Given the description of an element on the screen output the (x, y) to click on. 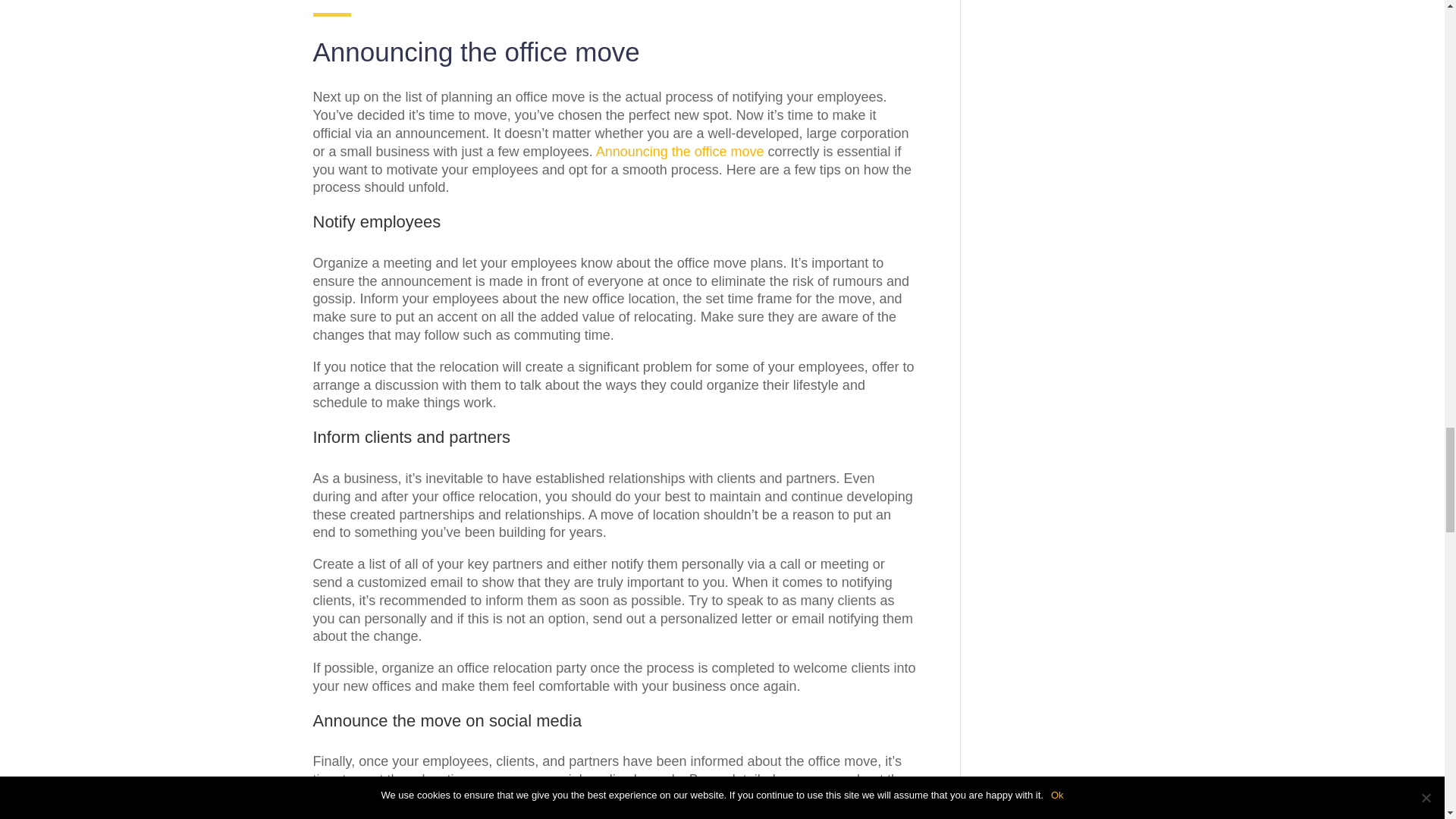
Announcing the office move (679, 151)
